Given the description of an element on the screen output the (x, y) to click on. 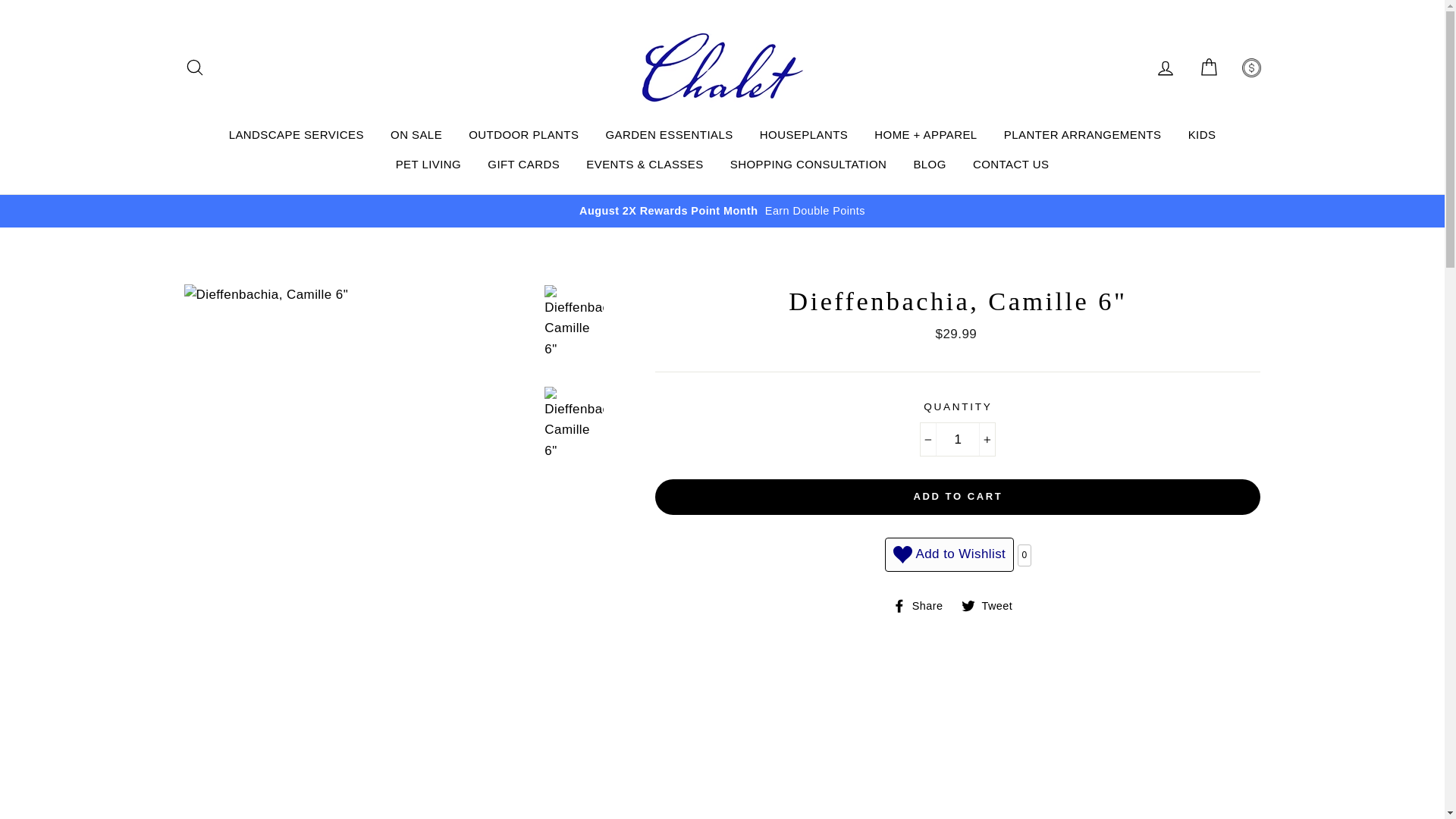
Share on Facebook (923, 604)
1 (957, 439)
Tweet on Twitter (991, 604)
Add to wishlist (949, 554)
